Given the description of an element on the screen output the (x, y) to click on. 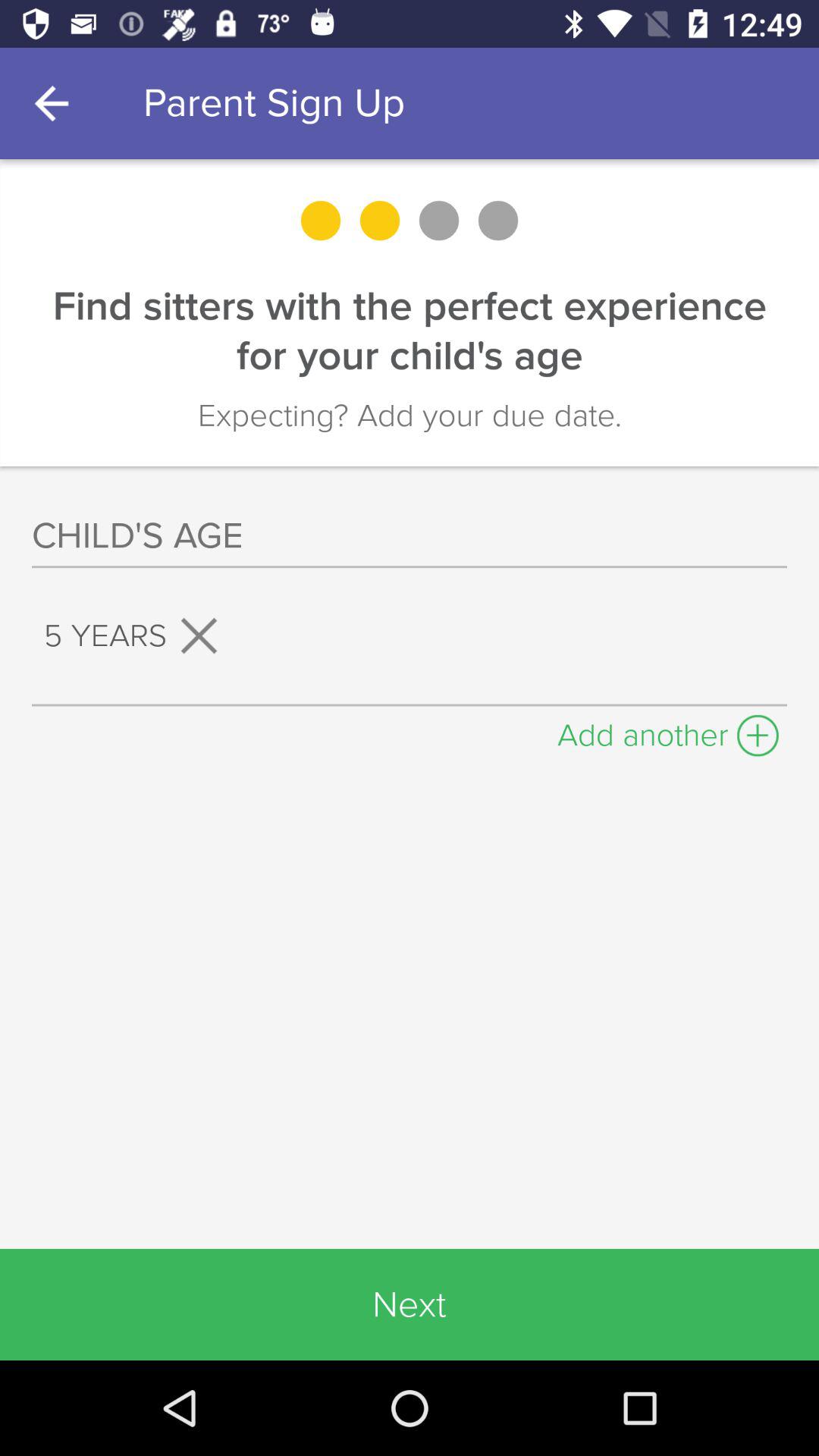
launch the next (409, 1304)
